Given the description of an element on the screen output the (x, y) to click on. 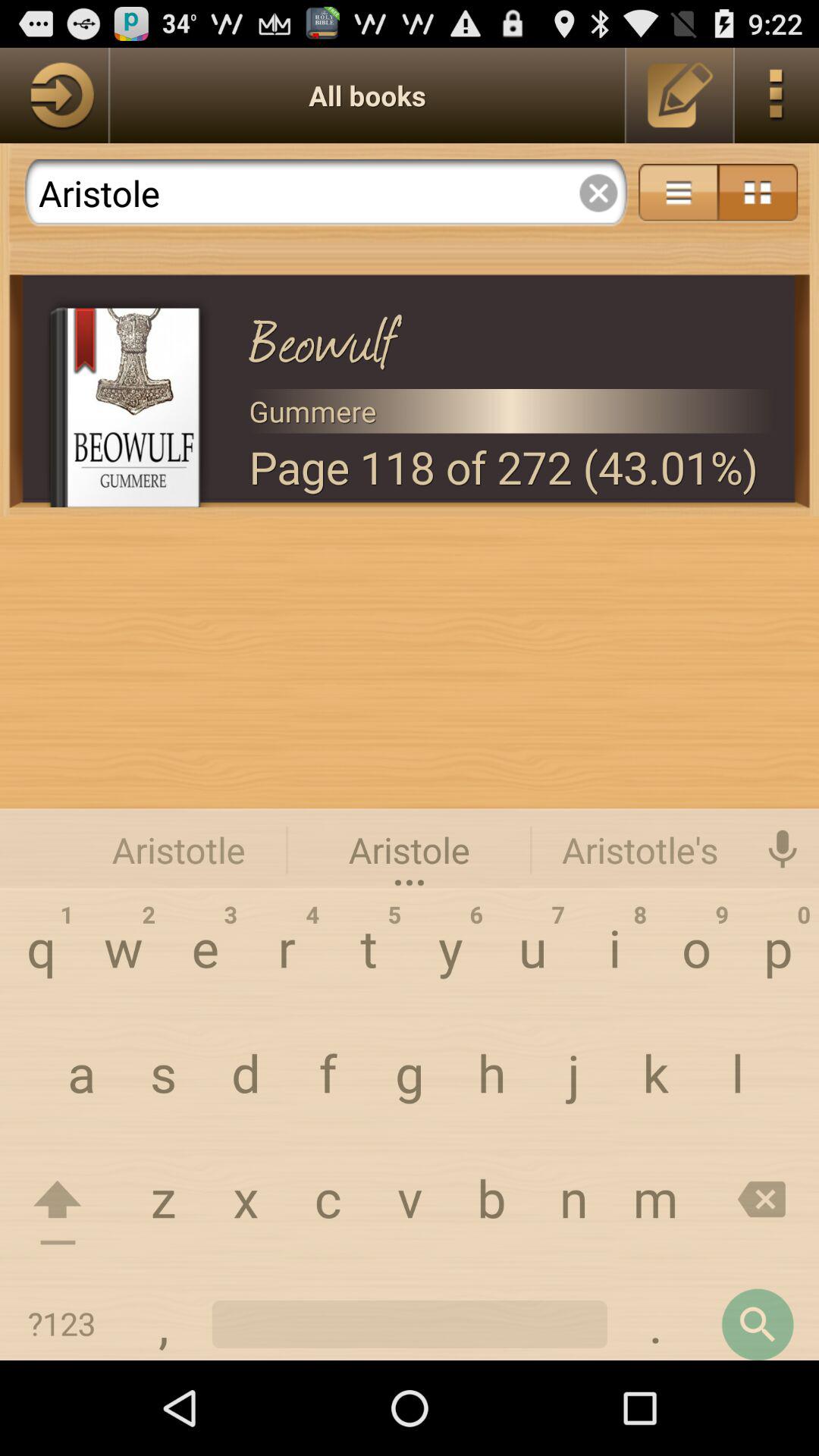
close tab (598, 192)
